Given the description of an element on the screen output the (x, y) to click on. 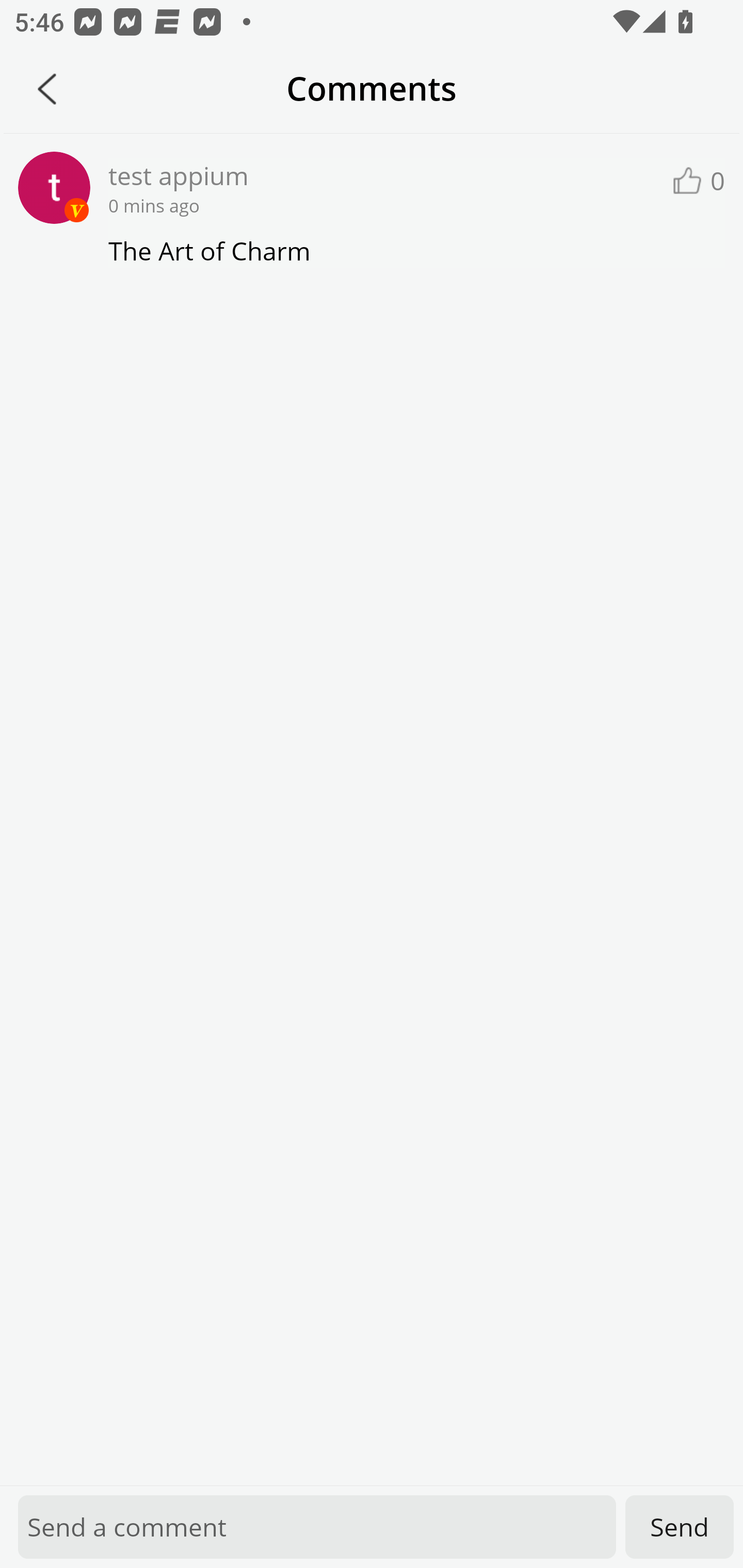
Back (46, 88)
Send a comment (316, 1526)
Send (679, 1526)
